Given the description of an element on the screen output the (x, y) to click on. 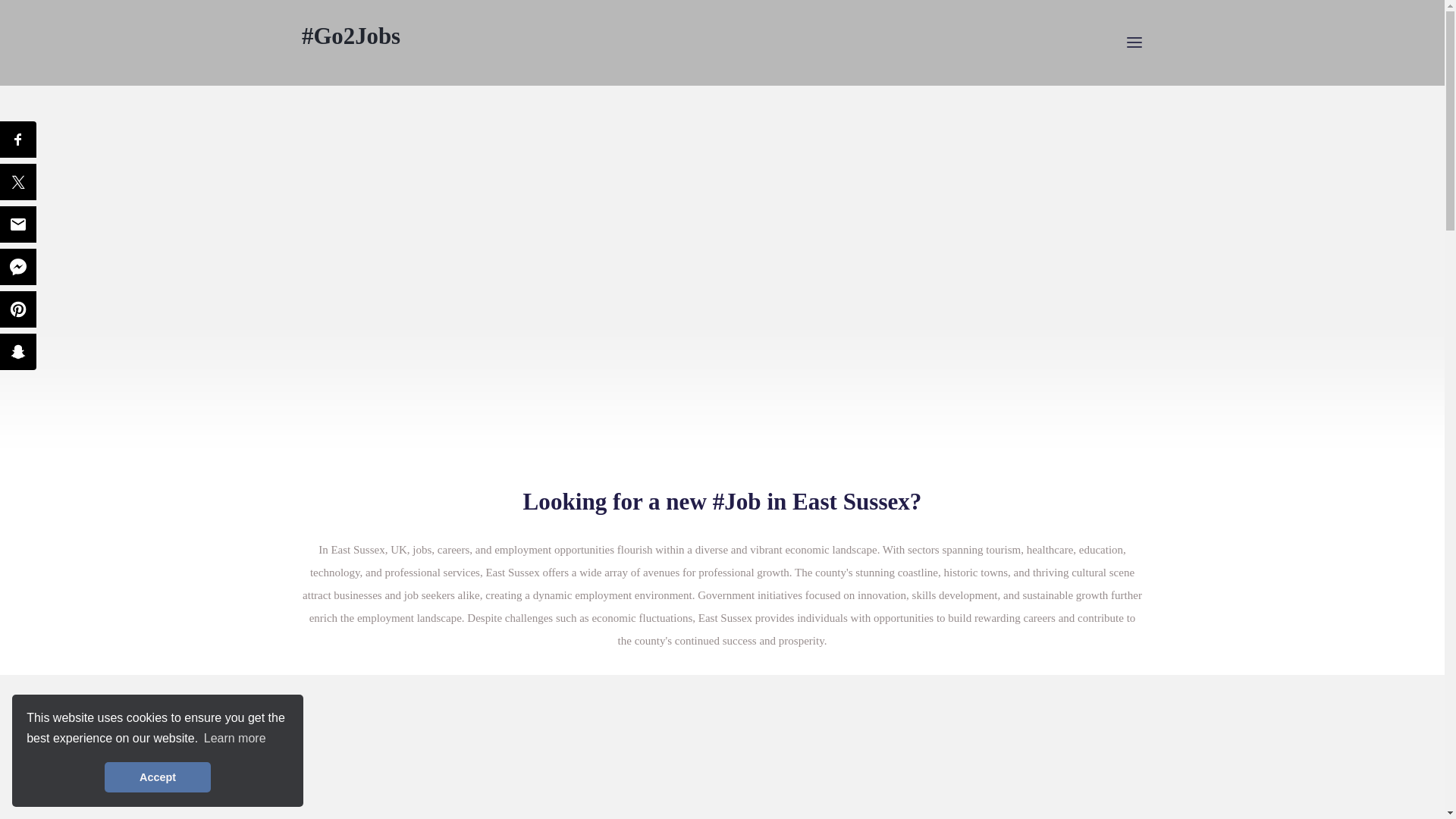
Advertisement (721, 758)
Accept (157, 777)
Learn more (234, 738)
